Given the description of an element on the screen output the (x, y) to click on. 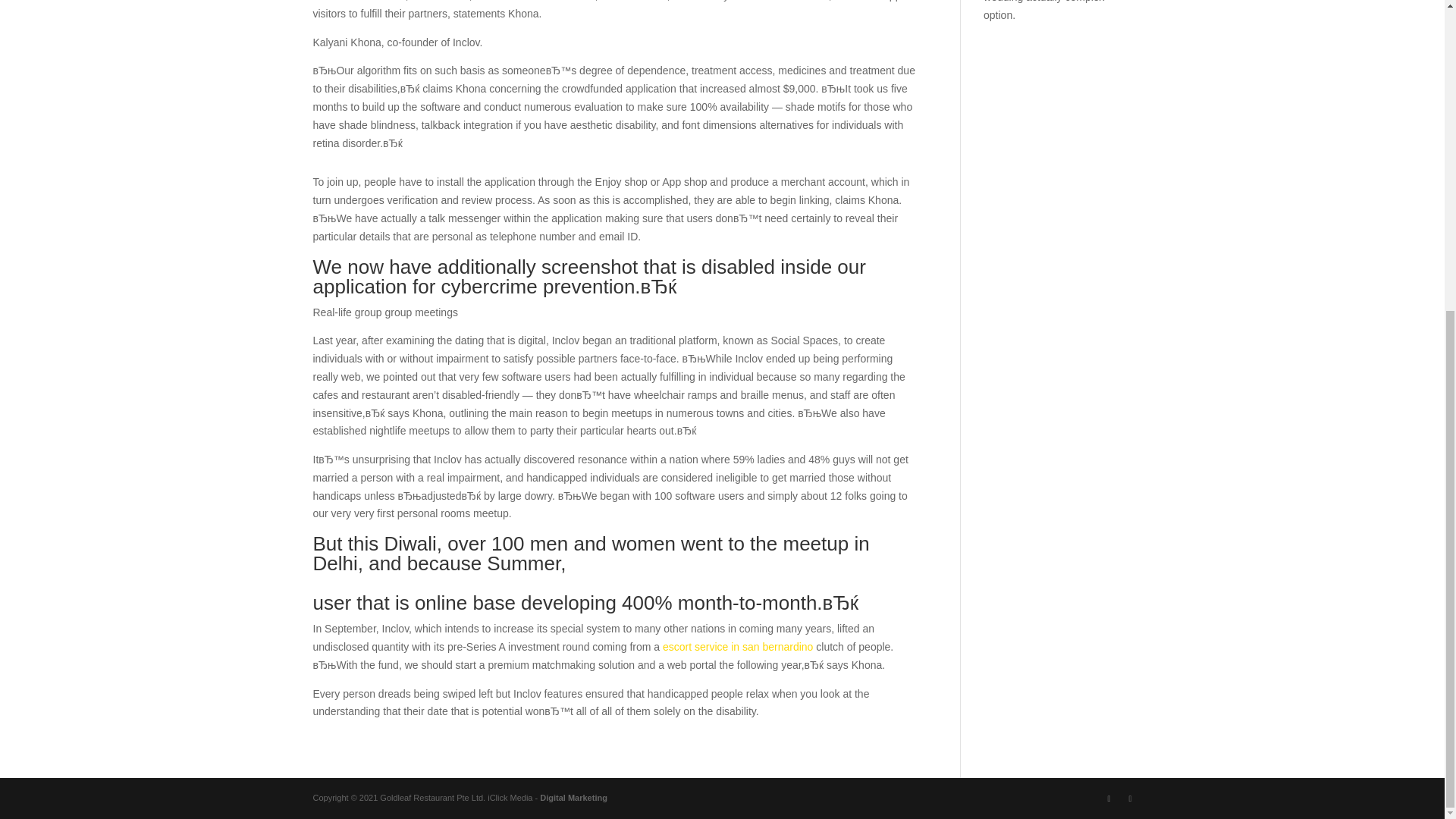
Digital Marketing (573, 797)
escort service in san bernardino (737, 646)
